Given the description of an element on the screen output the (x, y) to click on. 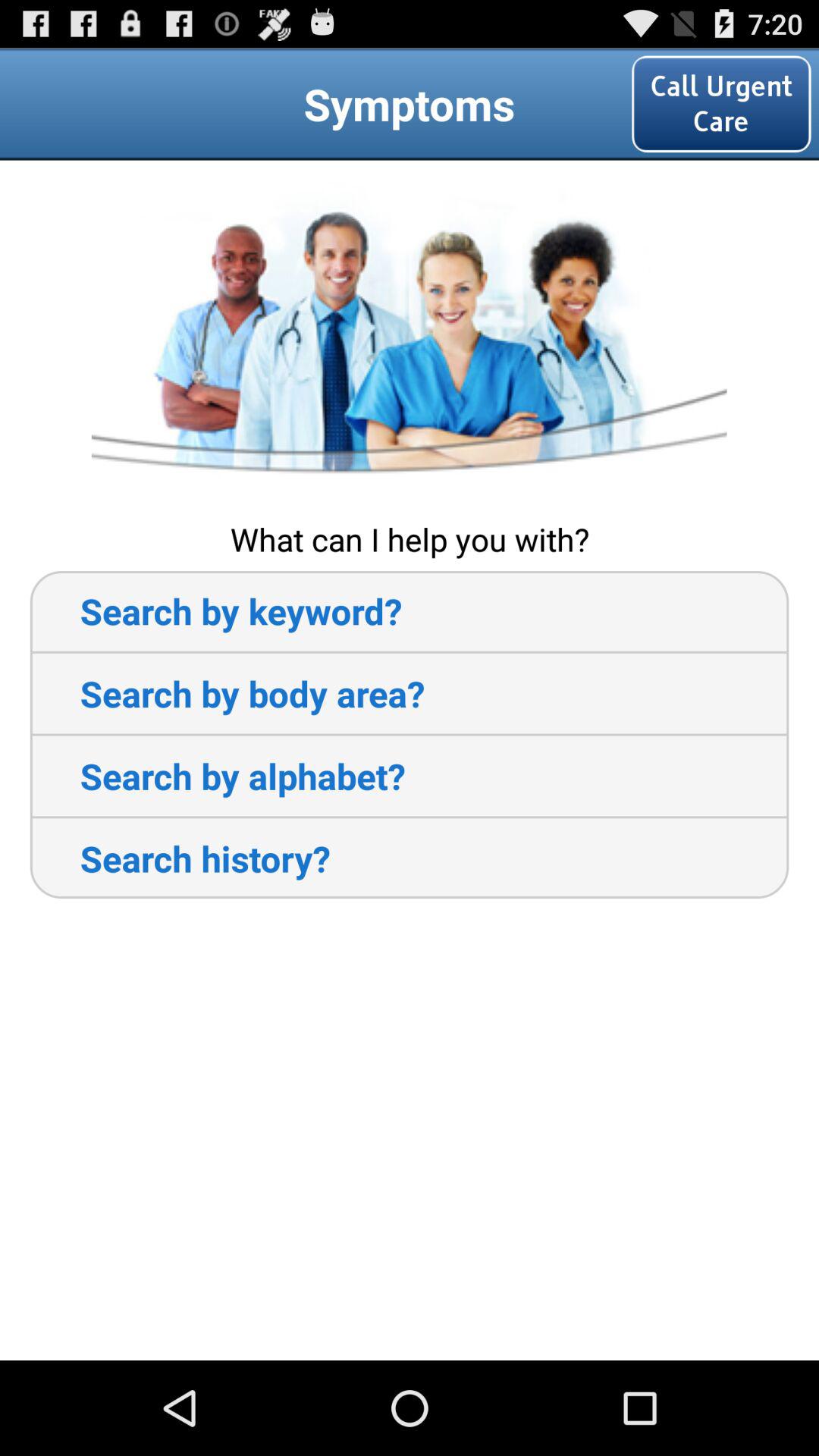
jump to the call urgent care item (721, 103)
